Given the description of an element on the screen output the (x, y) to click on. 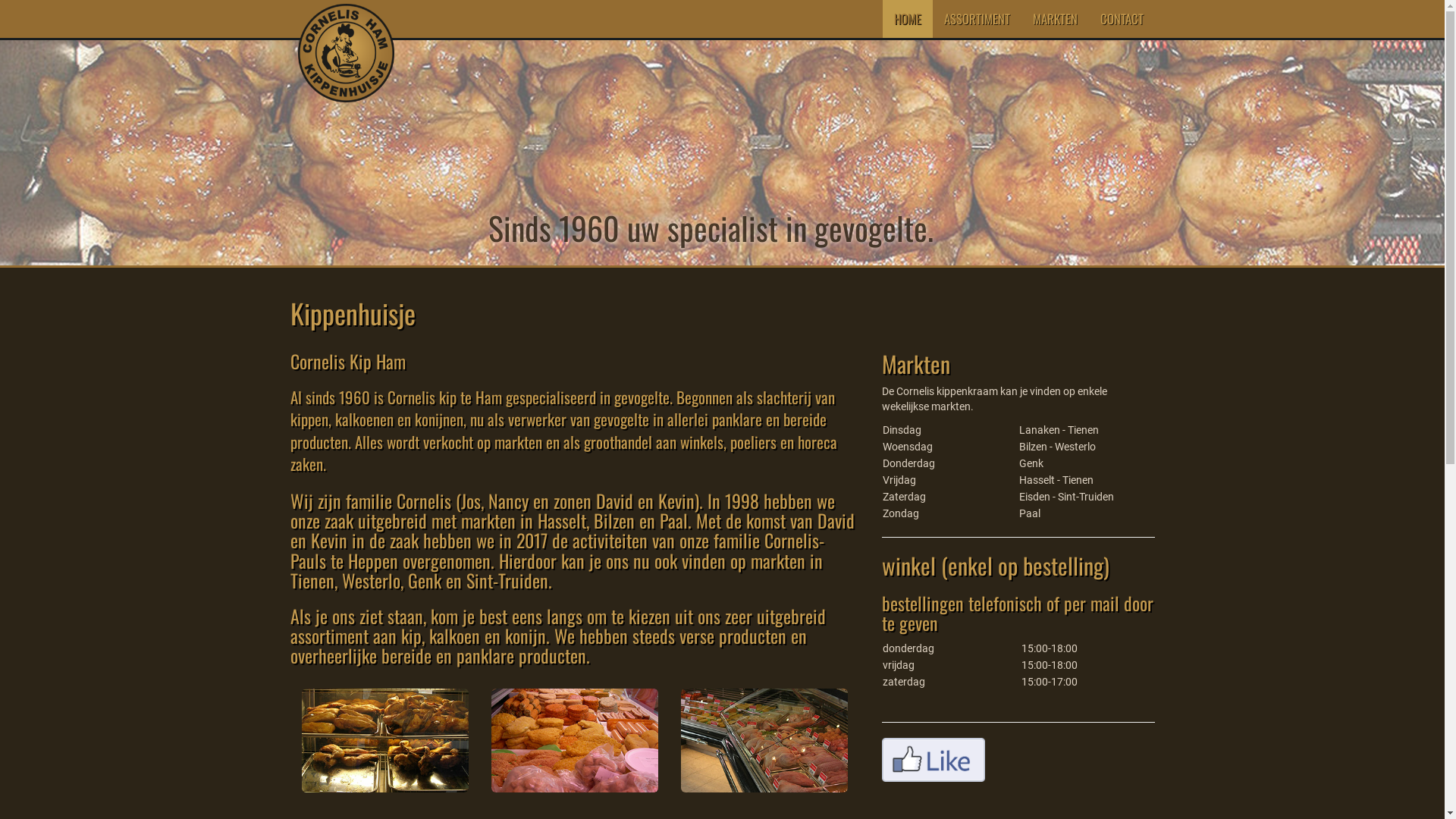
ASSORTIMENT Element type: text (976, 18)
CONTACT Element type: text (1121, 18)
HOME Element type: text (907, 18)
Cornelis Kip - vlees Element type: hover (574, 740)
facebook like Element type: hover (932, 759)
Cornelis Kip - vlees Element type: hover (763, 740)
Cornelis Kip - Kip oven Element type: hover (384, 740)
MARKTEN Element type: text (1054, 18)
